Given the description of an element on the screen output the (x, y) to click on. 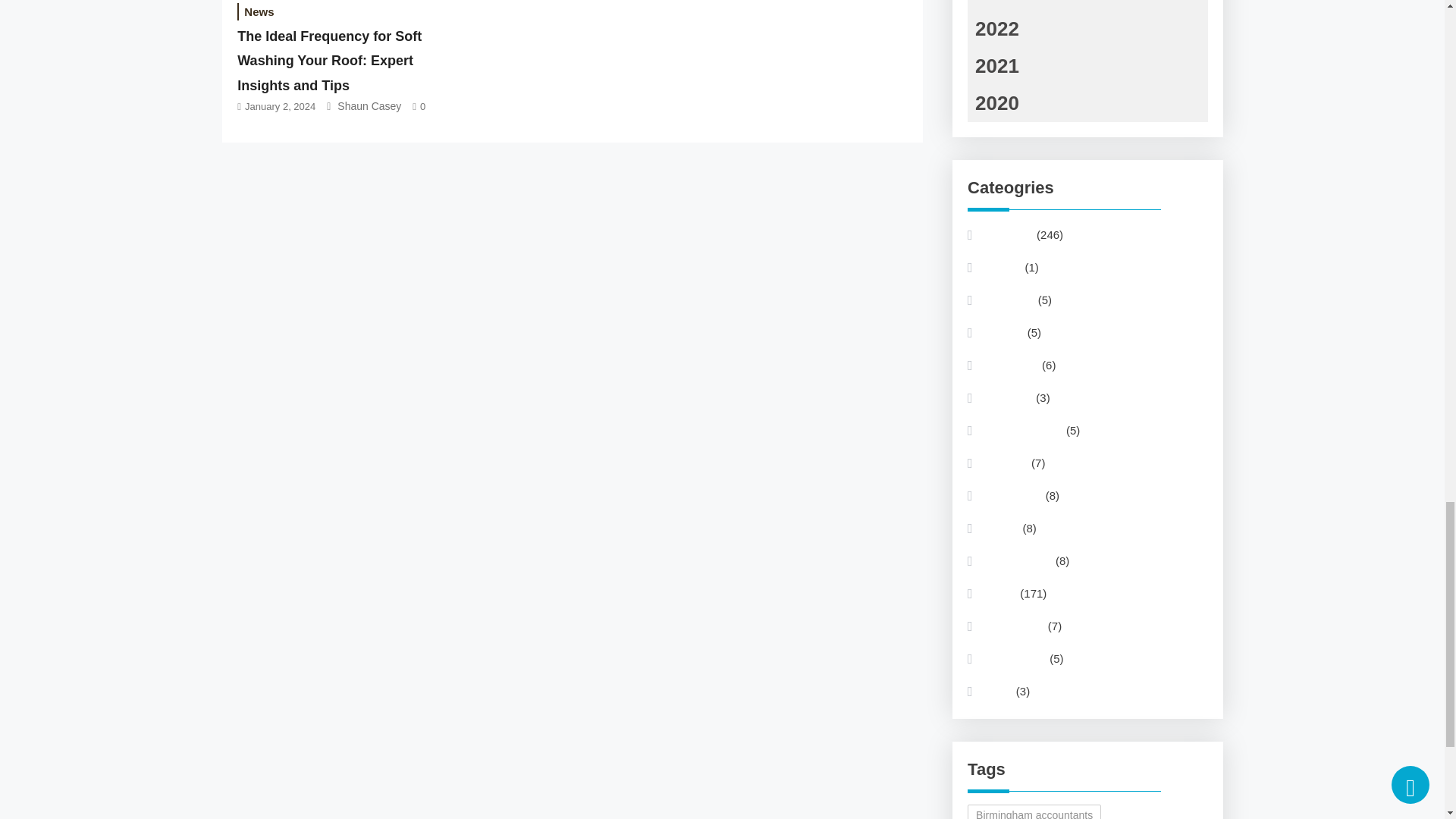
Shaun Casey (369, 105)
News (259, 11)
January 2, 2024 (279, 106)
